Given the description of an element on the screen output the (x, y) to click on. 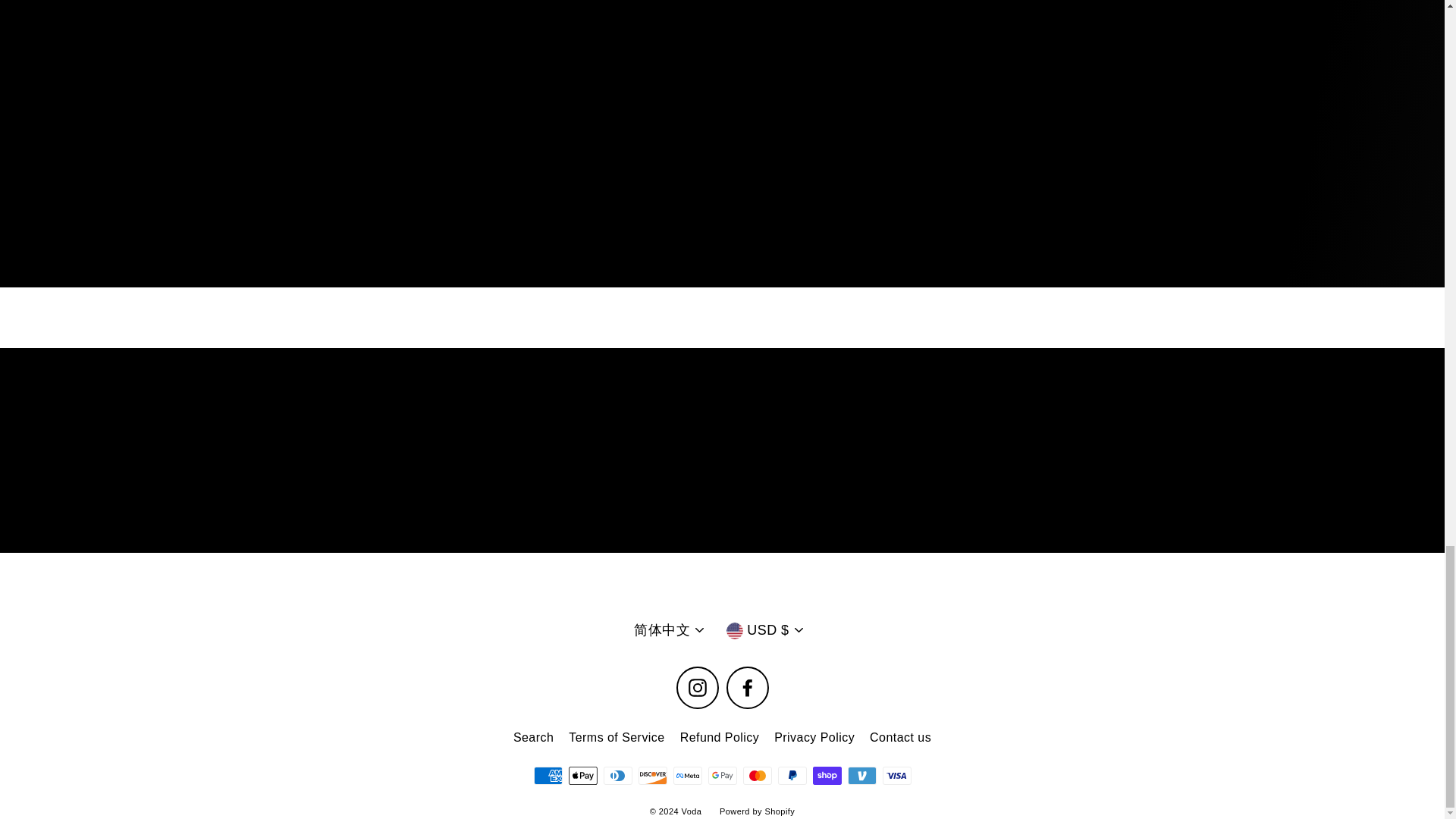
Voda on Instagram (698, 687)
Apple Pay (582, 775)
Diners Club (617, 775)
Meta Pay (686, 775)
Google Pay (721, 775)
American Express (548, 775)
Venmo (861, 775)
Visa (896, 775)
Mastercard (756, 775)
Voda on Facebook (747, 687)
PayPal (791, 775)
Shop Pay (826, 775)
Discover (652, 775)
